Given the description of an element on the screen output the (x, y) to click on. 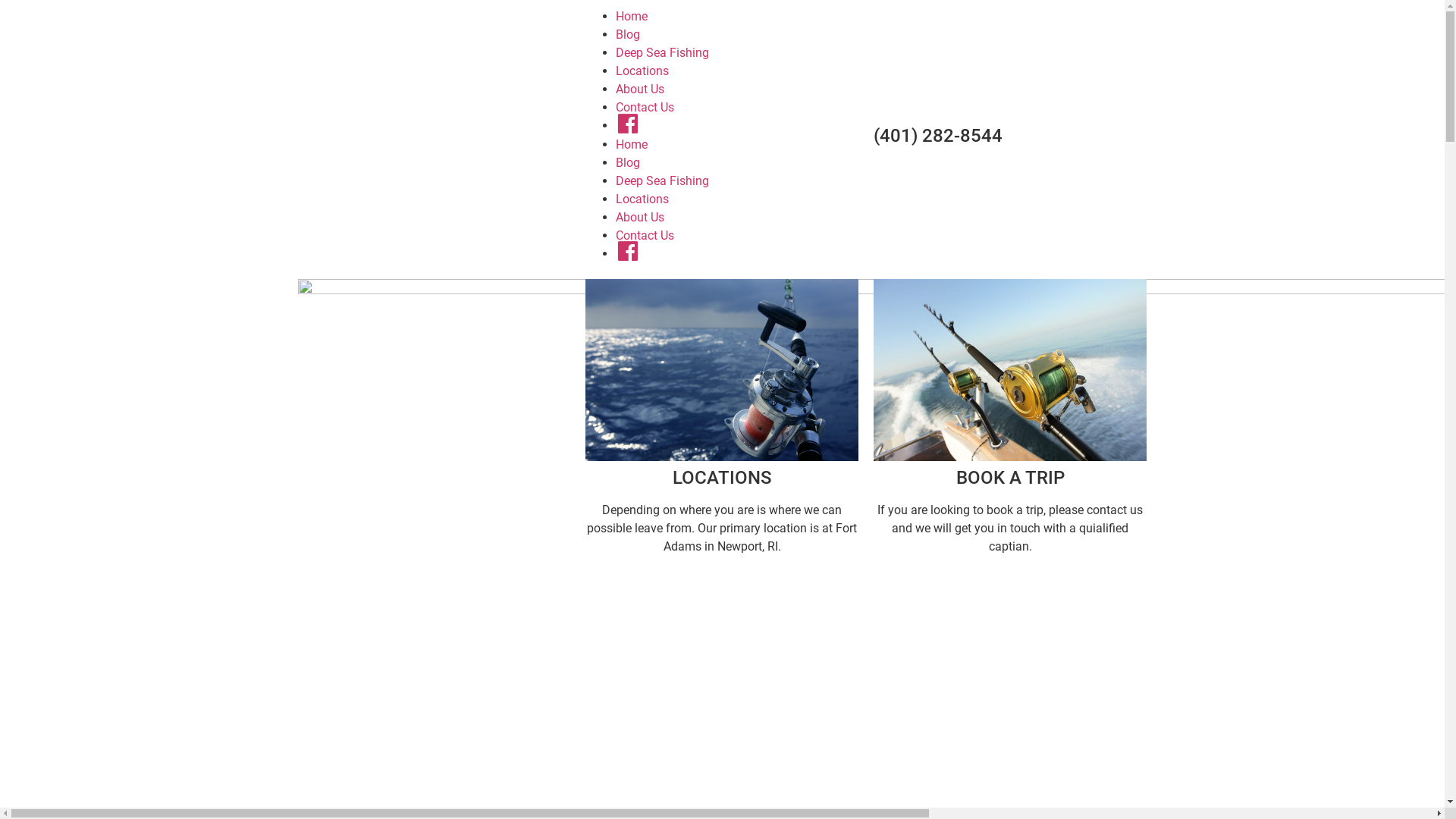
BOOK A TRIP Element type: text (1010, 477)
Locations Element type: text (641, 70)
About Us Element type: text (639, 217)
Contact Us Element type: text (644, 235)
(401) 282-8544 Element type: text (937, 135)
Home Element type: text (631, 16)
Contact Us Element type: text (644, 107)
LOCATIONS Element type: text (721, 477)
Home Element type: text (631, 144)
Blog Element type: text (627, 34)
Deep Sea Fishing Element type: text (662, 52)
About Us Element type: text (639, 88)
Menu Item Element type: text (627, 125)
Locations Element type: text (641, 198)
Deep Sea Fishing Element type: text (662, 180)
Blog Element type: text (627, 162)
Menu Item Element type: text (627, 253)
